Given the description of an element on the screen output the (x, y) to click on. 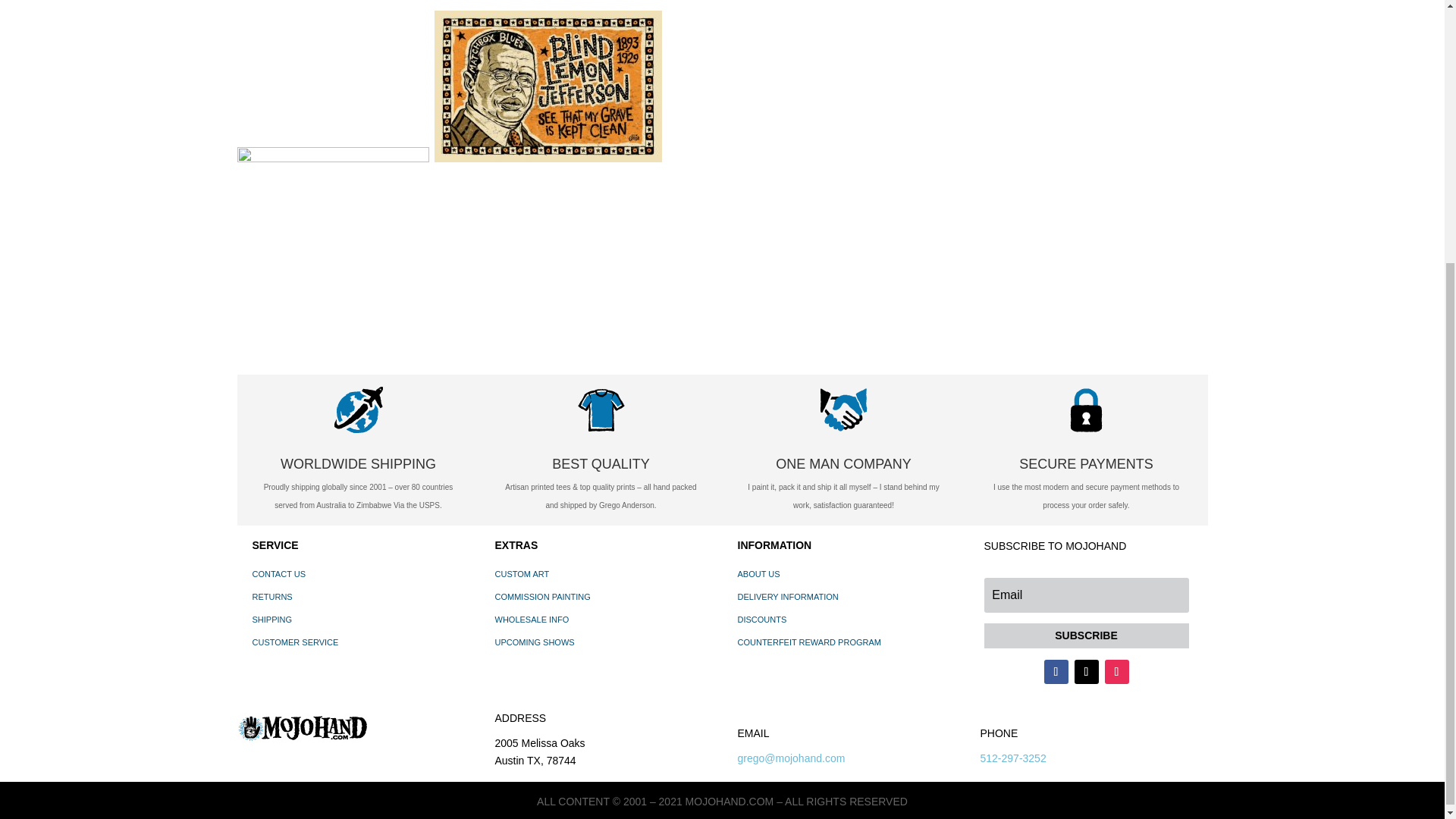
mojo-logo (300, 727)
Follow on Instagram (1115, 671)
Follow on Facebook (1055, 671)
Follow on X (1085, 671)
